Given the description of an element on the screen output the (x, y) to click on. 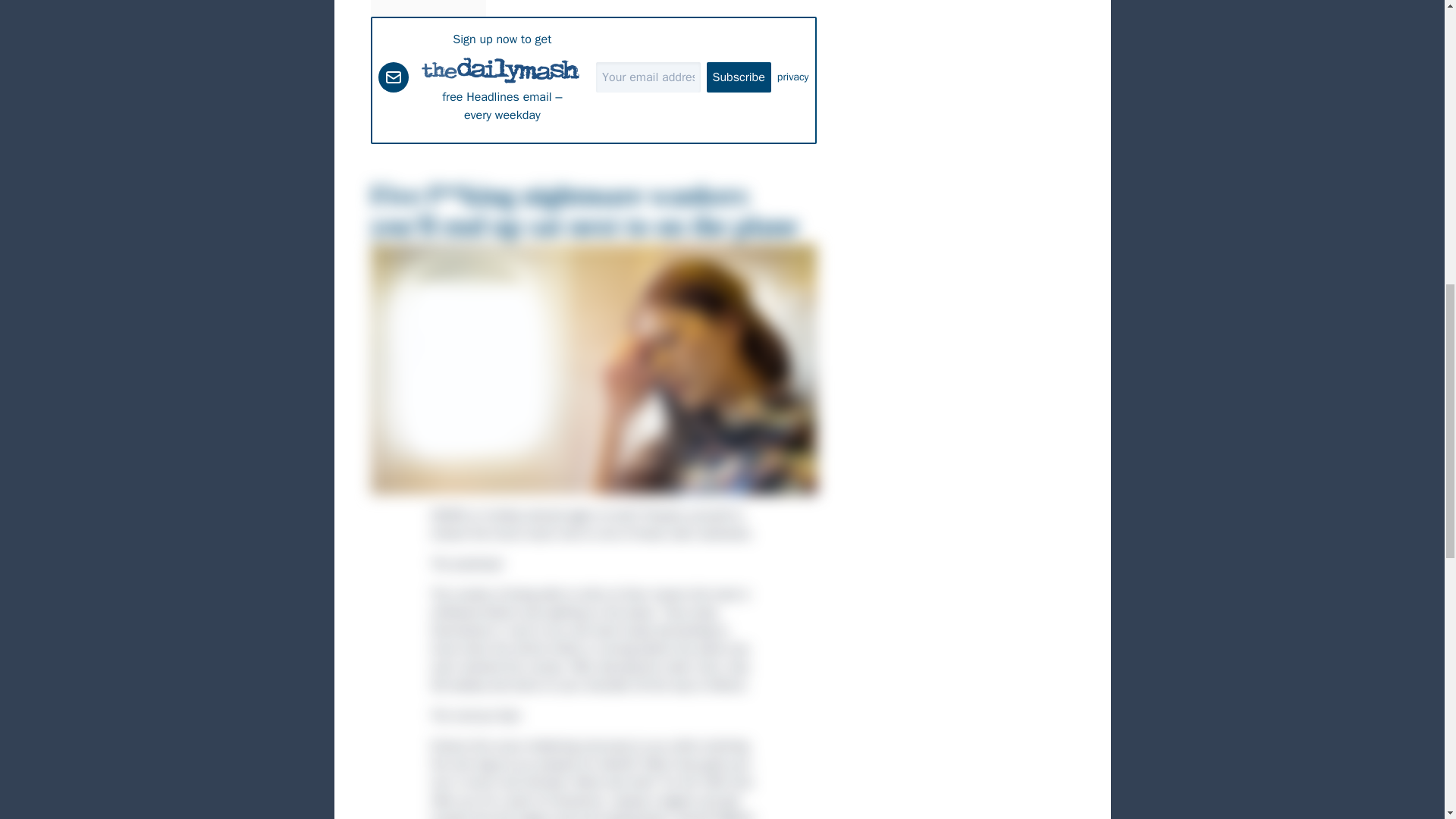
Subscribe (738, 77)
privacy (793, 77)
